Given the description of an element on the screen output the (x, y) to click on. 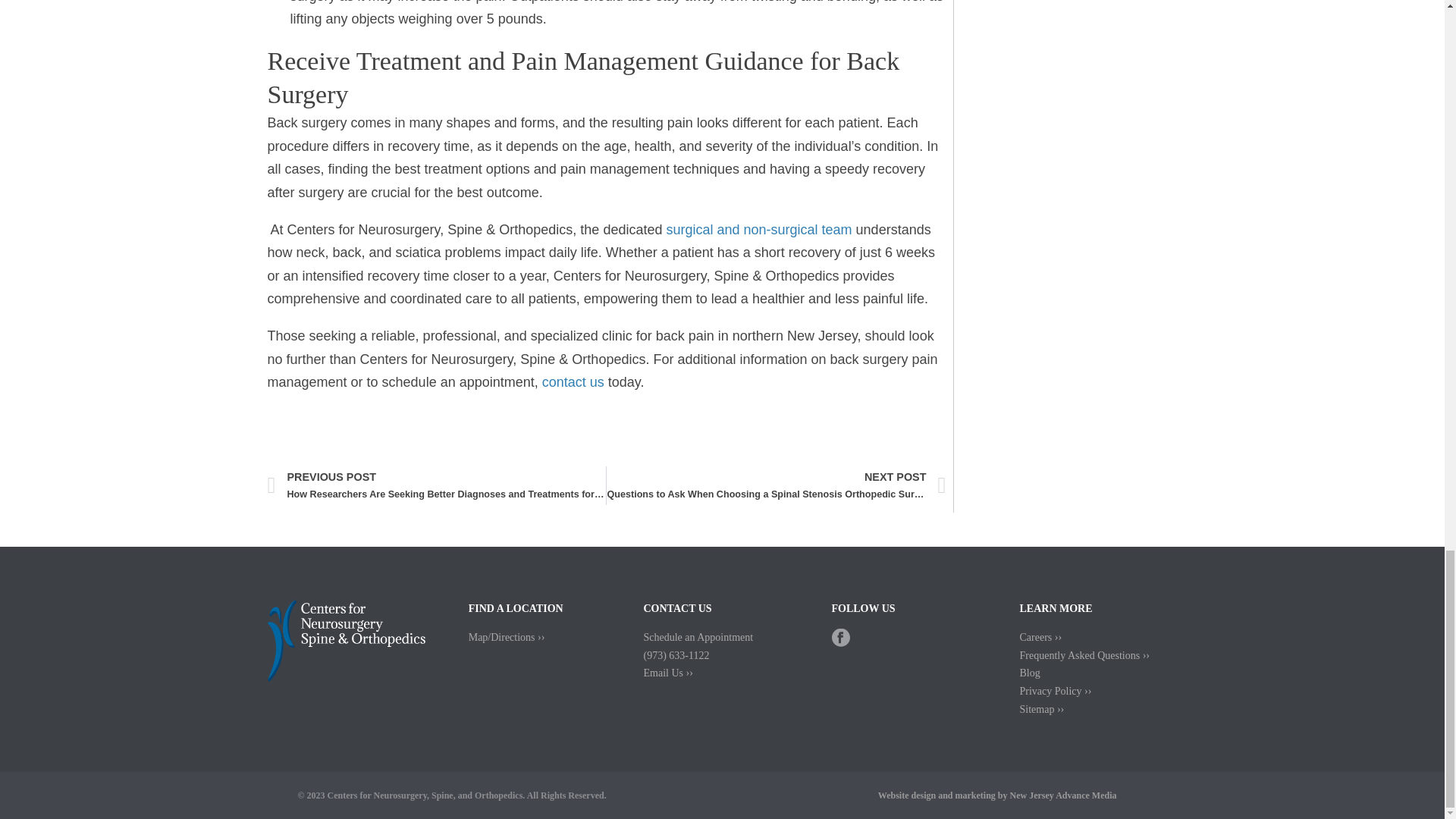
 facebook (839, 643)
